Given the description of an element on the screen output the (x, y) to click on. 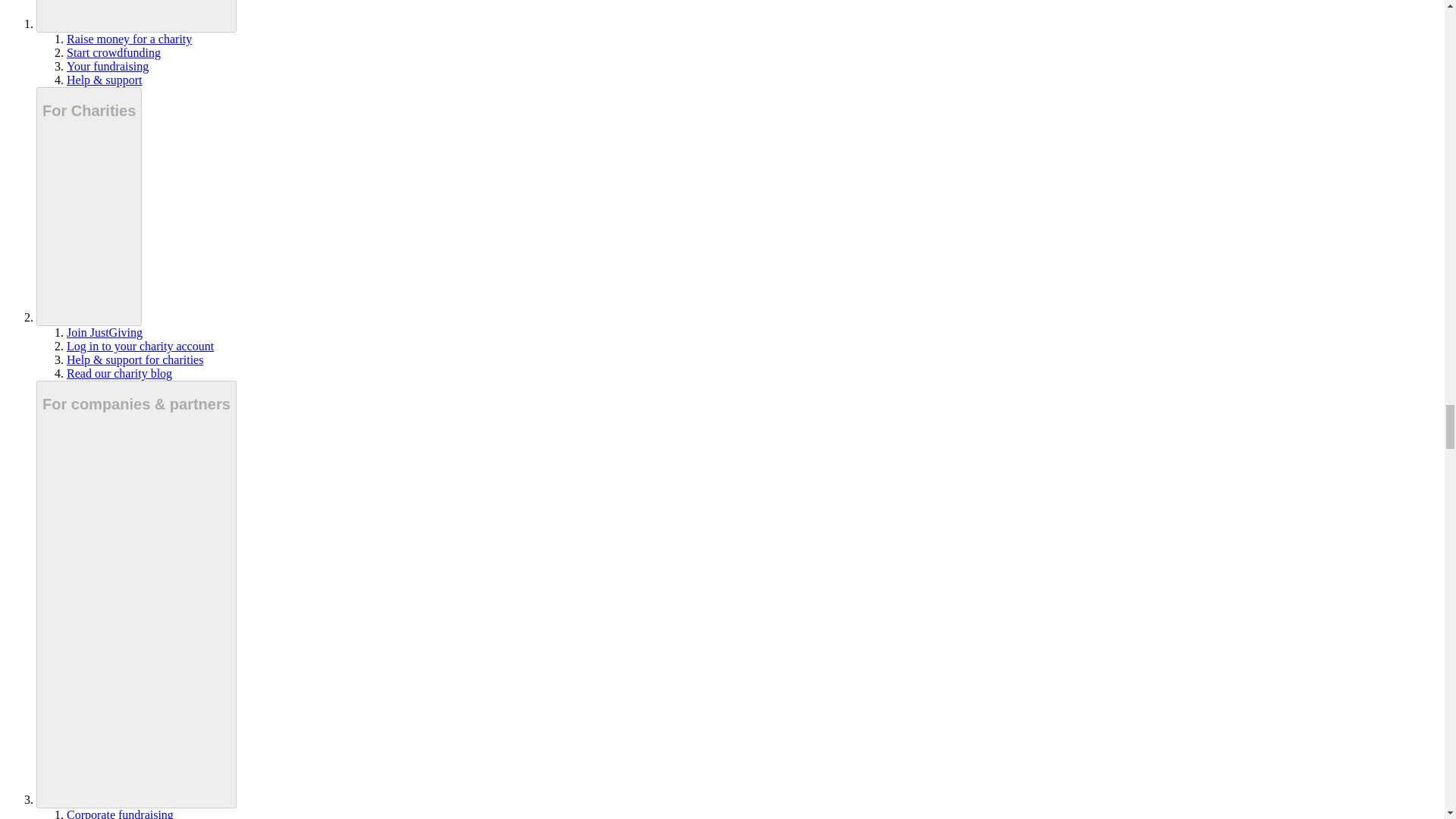
Join JustGiving (104, 332)
Log in to your charity account (140, 345)
Corporate fundraising (119, 813)
Your fundraising (107, 65)
Raise money for a charity (129, 38)
Start crowdfunding (113, 51)
Read our charity blog (118, 373)
